Given the description of an element on the screen output the (x, y) to click on. 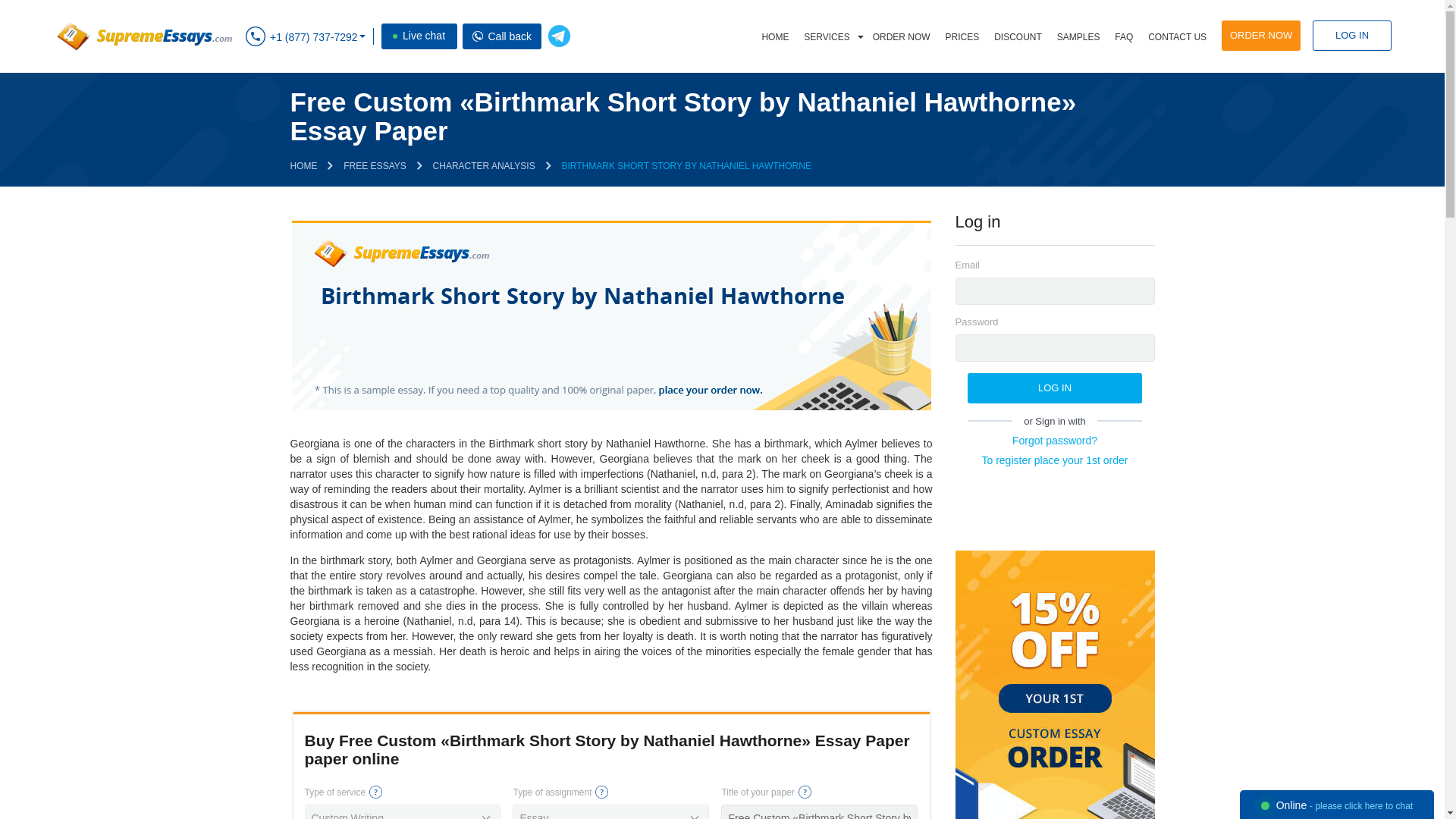
CONTACT US (1176, 36)
CHARACTER ANALYSIS (483, 165)
FREE ESSAYS (374, 165)
Supremeessays.com (143, 36)
FAQ (1123, 36)
HOME (774, 36)
Call back (477, 36)
SAMPLES (1078, 36)
HOME (303, 165)
PRICES (962, 36)
Birthmark Short Story by Nathaniel Hawthorne (610, 315)
DISCOUNT (1018, 36)
